Given the description of an element on the screen output the (x, y) to click on. 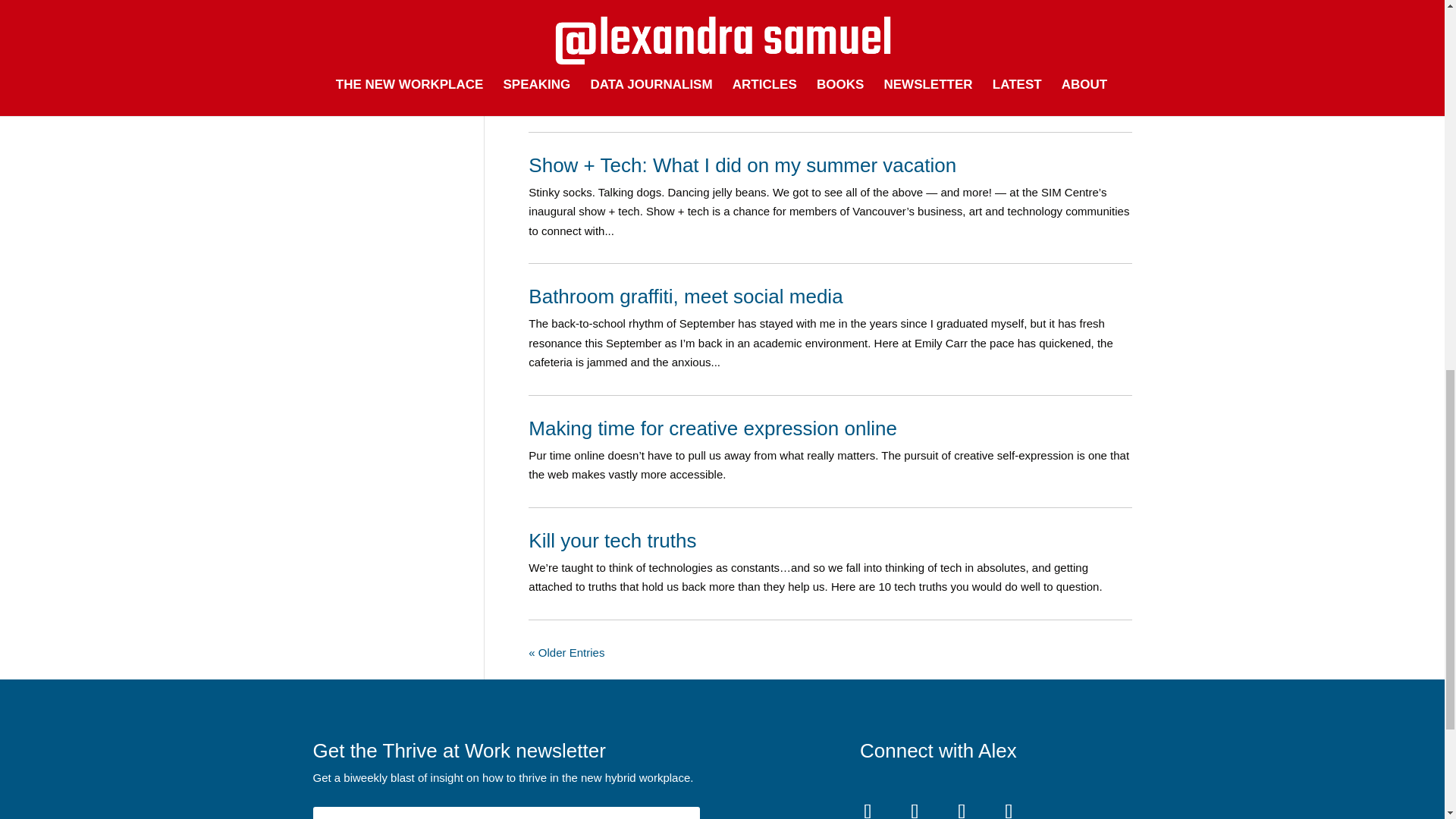
Follow on LinkedIn (913, 805)
Kill your tech truths (611, 540)
Follow on Facebook (960, 805)
Making time for creative expression online (712, 427)
Follow on Medium (867, 805)
Bathroom graffiti, meet social media (685, 296)
Follow on Twitter (1008, 805)
